Given the description of an element on the screen output the (x, y) to click on. 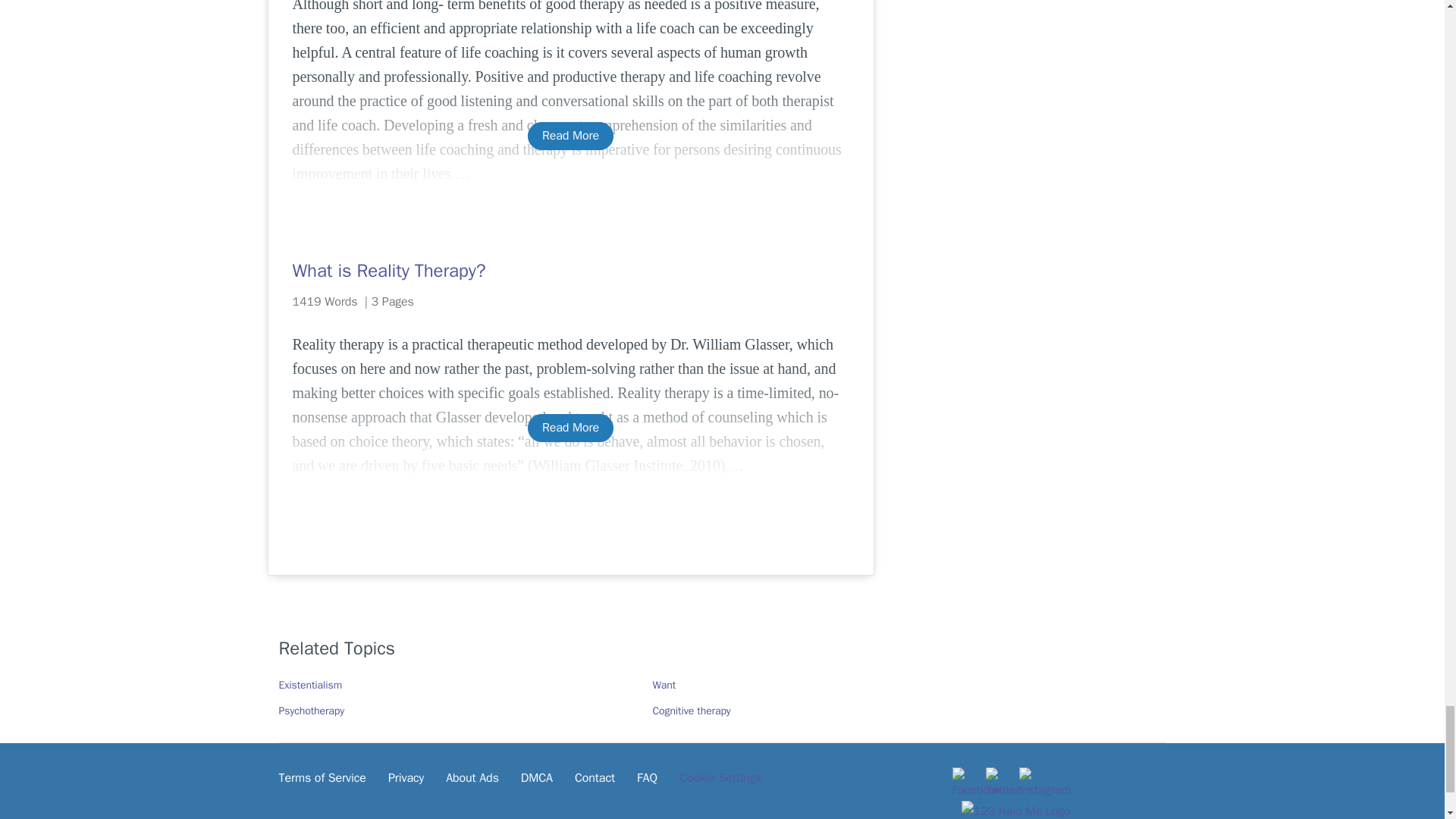
Psychotherapy (312, 710)
Want (663, 684)
Existentialism (310, 684)
Cognitive therapy (691, 710)
